Given the description of an element on the screen output the (x, y) to click on. 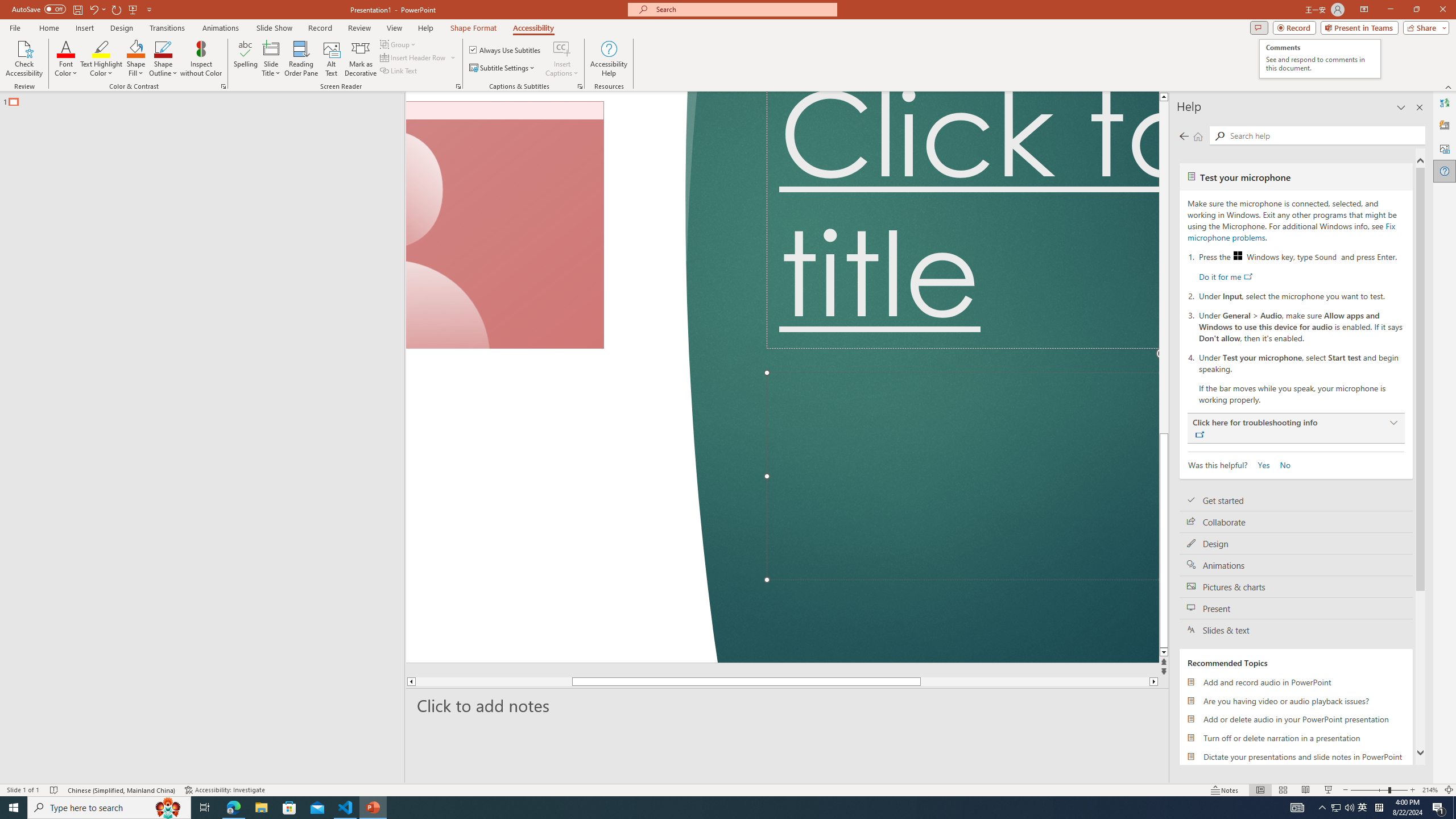
Task Pane Options (1400, 107)
Click here for troubleshooting info (1296, 428)
Check Accessibility (23, 58)
Spelling... (245, 58)
Page down (1034, 681)
Link Text (399, 69)
Line down (1245, 652)
Shape Outline Blue, Accent 1 (163, 48)
Search (1219, 136)
Fix microphone problems (1291, 231)
Accessibility Checker Accessibility: Investigate (226, 790)
Customize Quick Access Toolbar (149, 9)
Insert Header Row (418, 56)
